Given the description of an element on the screen output the (x, y) to click on. 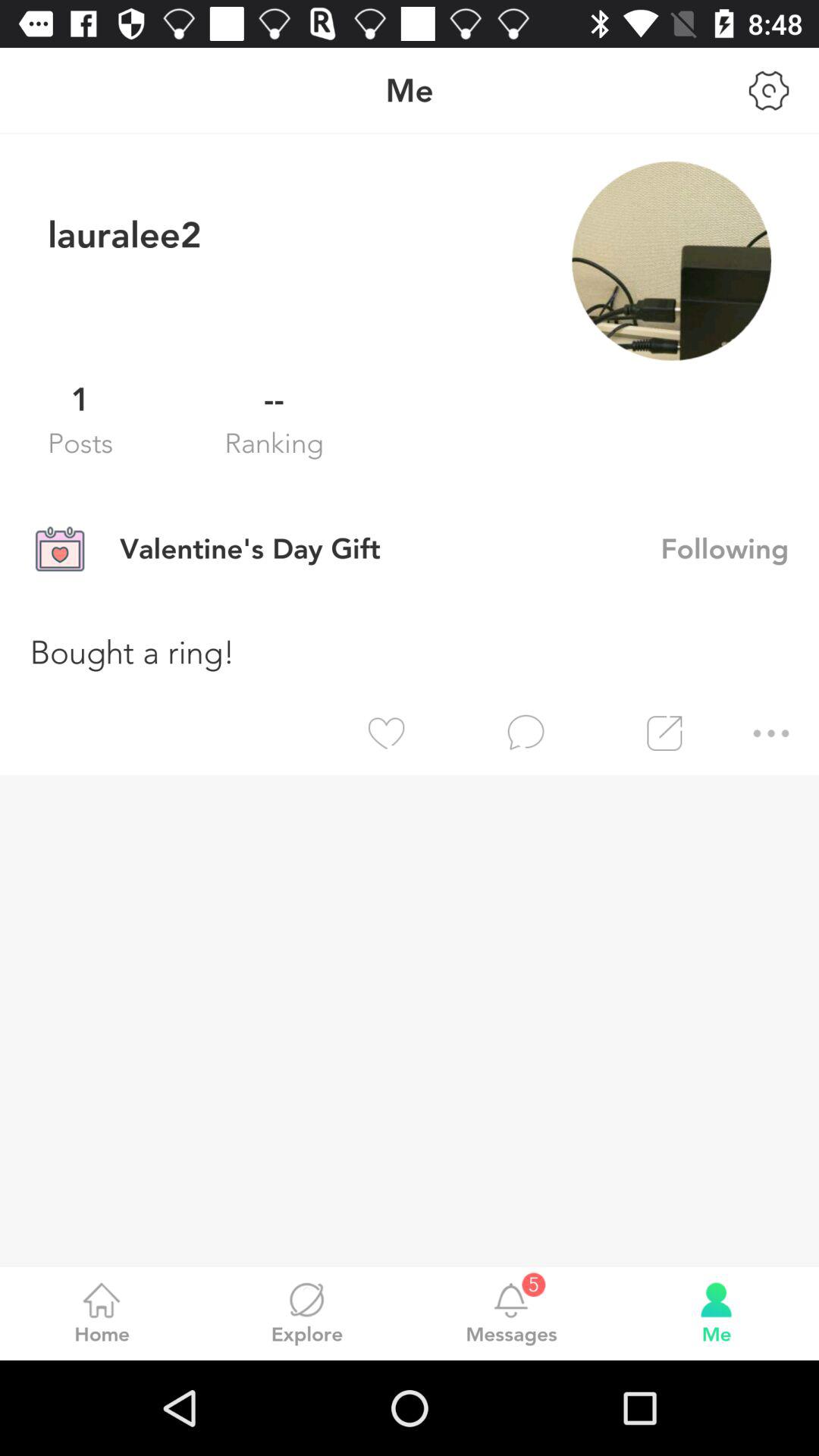
open the item below bought a ring! icon (786, 733)
